Given the description of an element on the screen output the (x, y) to click on. 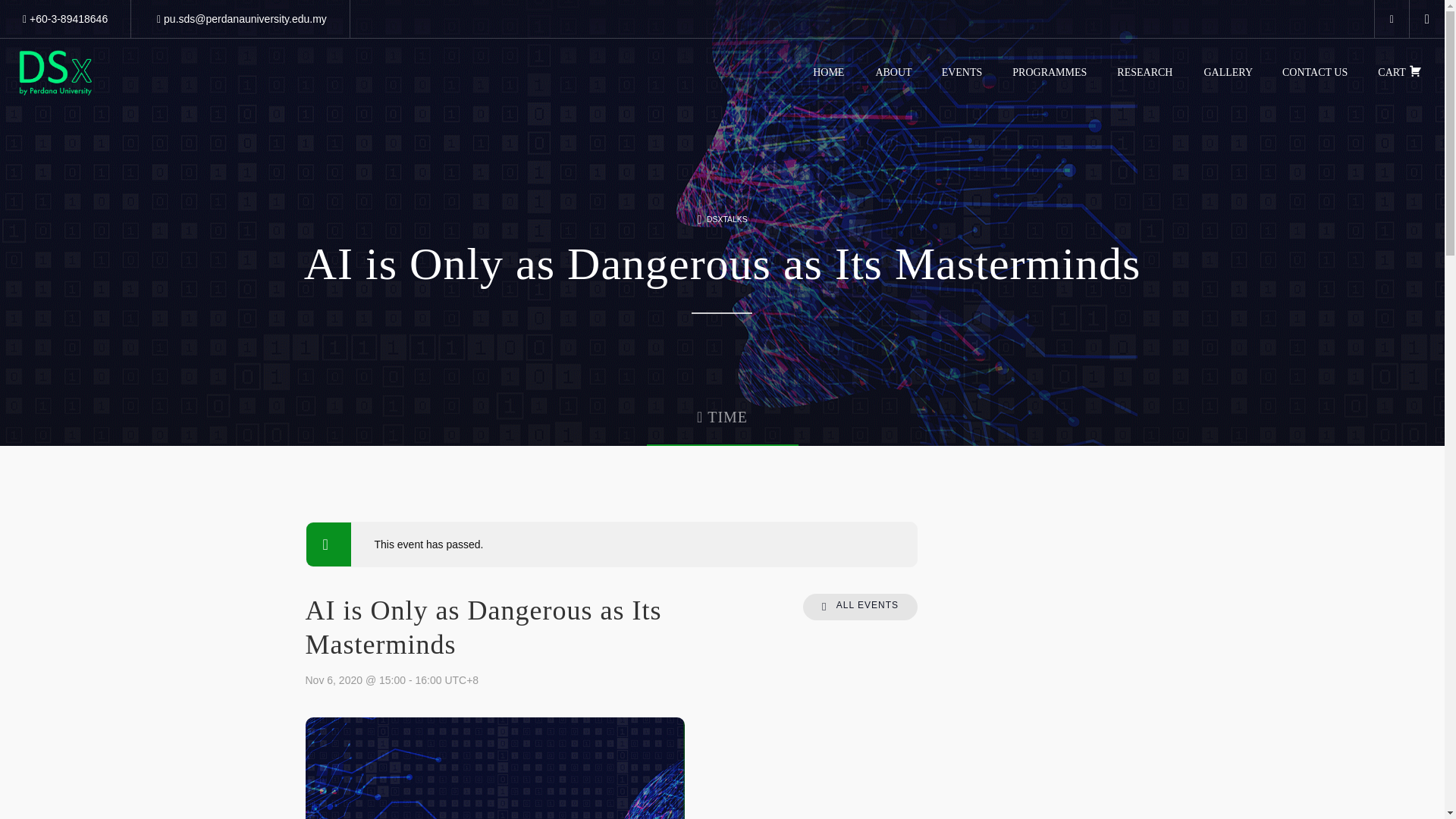
HOME (824, 72)
ABOUT (889, 72)
CART (1395, 72)
GALLERY (1224, 72)
CONTACT US (1310, 72)
Time table (1391, 18)
EVENTS (958, 72)
Home (55, 72)
PROGRAMMES (1044, 72)
ALL EVENTS (860, 606)
